Given the description of an element on the screen output the (x, y) to click on. 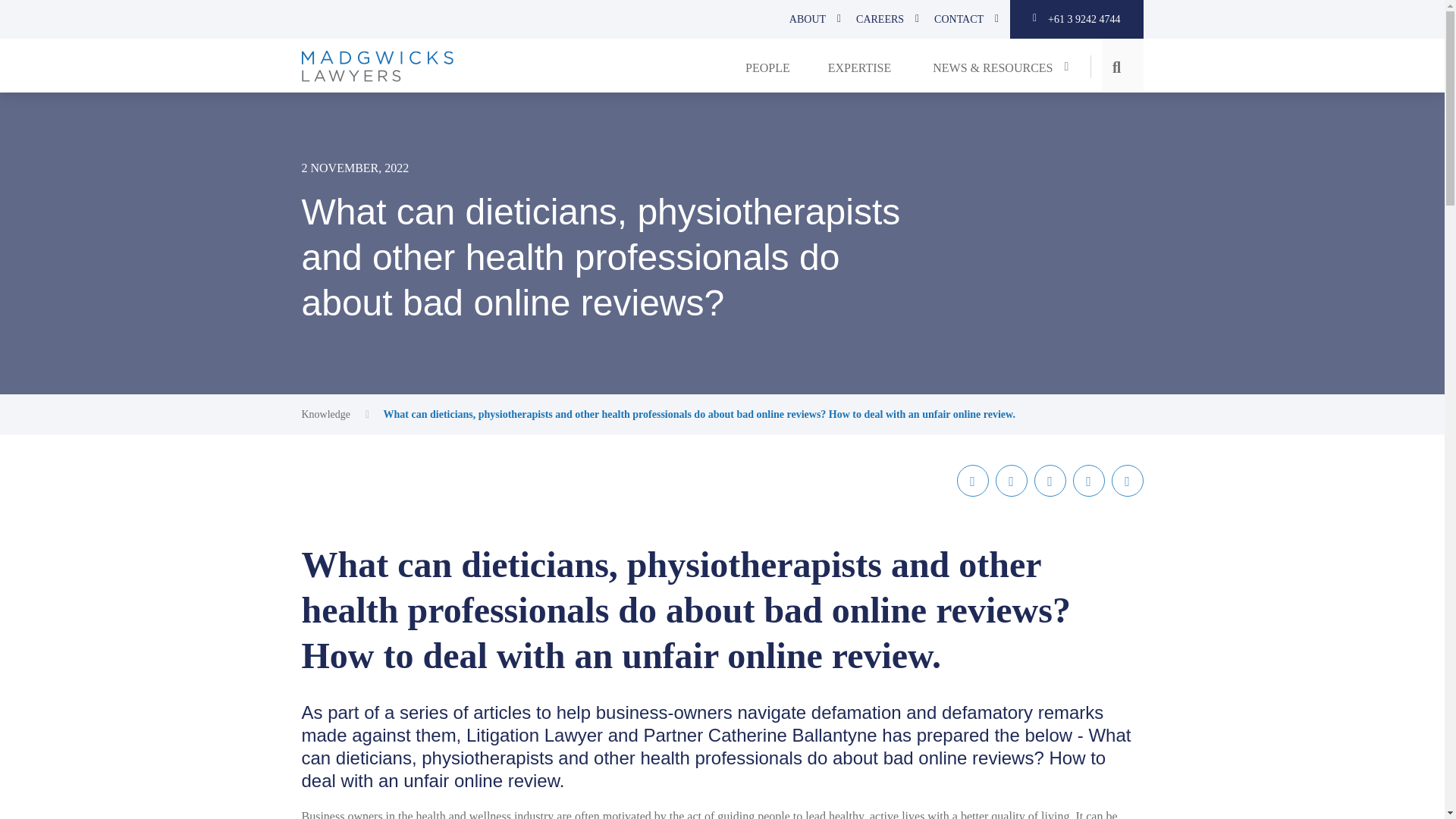
CAREERS (879, 19)
ABOUT (807, 19)
CONTACT (958, 19)
EXPERTISE (859, 65)
PEOPLE (767, 65)
Knowledge (325, 414)
SEARCH (41, 25)
